Given the description of an element on the screen output the (x, y) to click on. 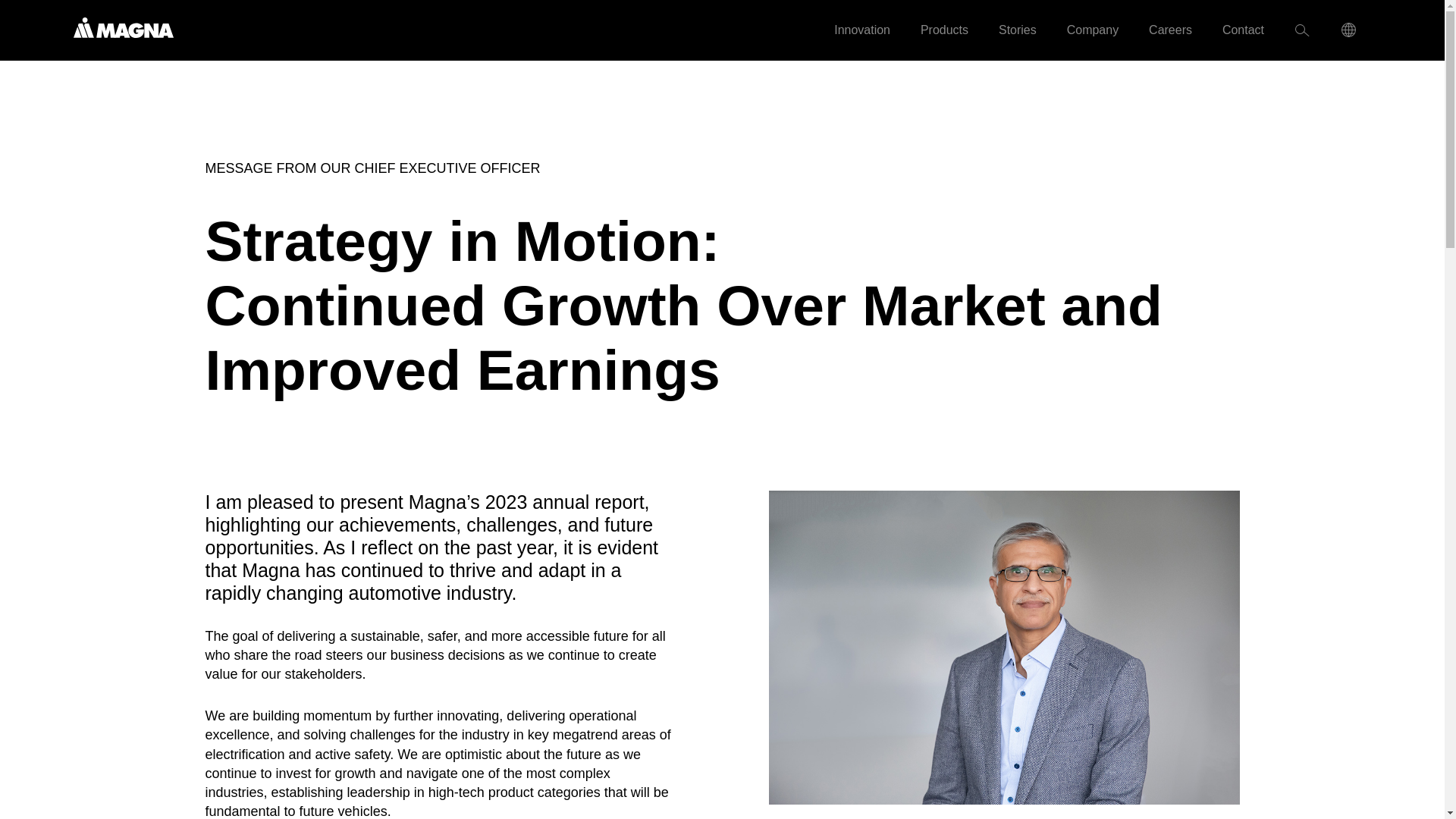
Products (944, 30)
Stories (1017, 30)
Innovation (861, 30)
